Given the description of an element on the screen output the (x, y) to click on. 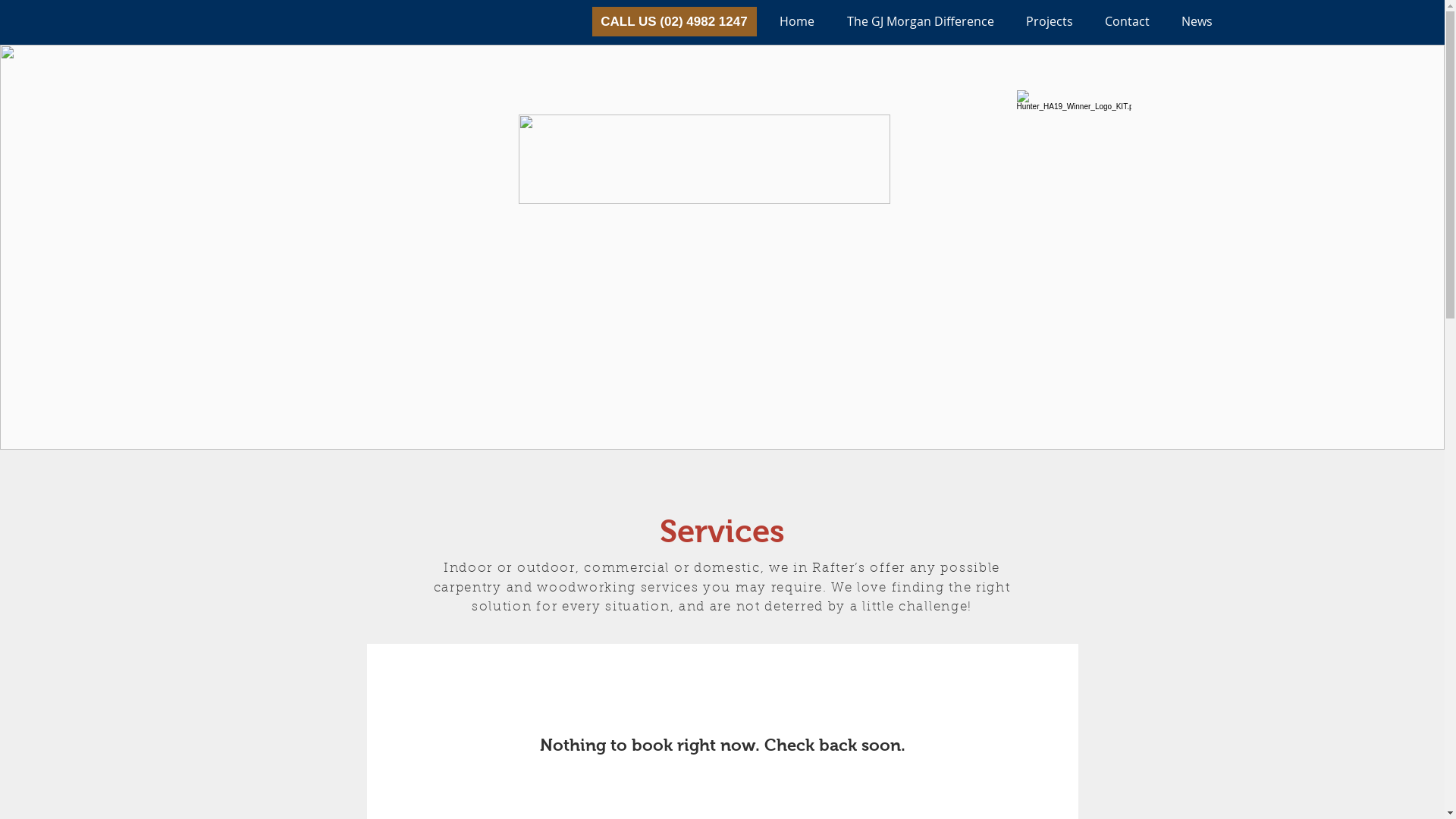
Projects Element type: text (1049, 21)
The GJ Morgan Difference Element type: text (920, 21)
Contact Element type: text (1126, 21)
CALL US (02) 4982 1247 Element type: text (673, 21)
Home Element type: text (796, 21)
News Element type: text (1195, 21)
